Given the description of an element on the screen output the (x, y) to click on. 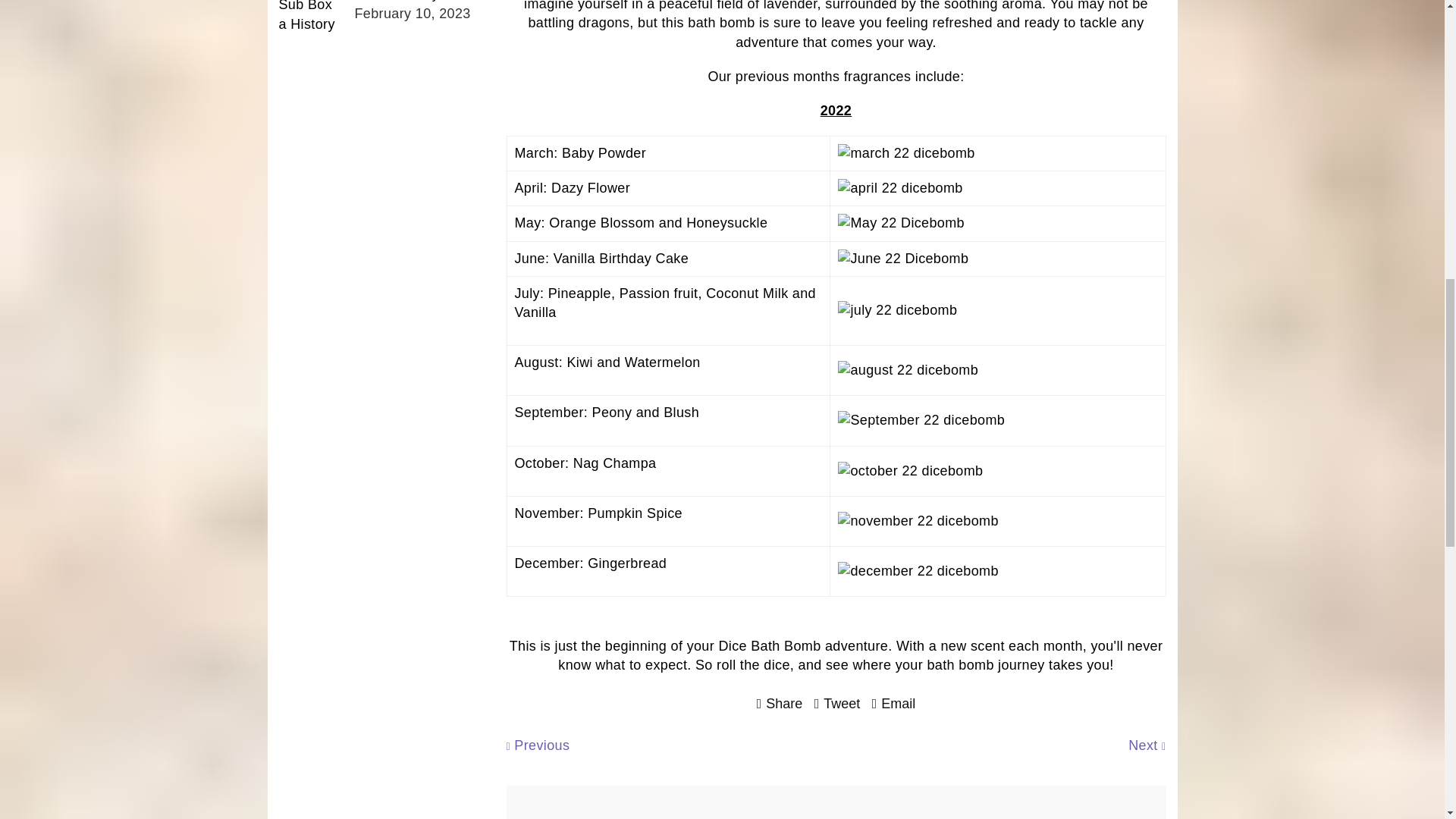
Share on Facebook (780, 703)
Share by Email (893, 703)
Tweet on Twitter (836, 703)
